Given the description of an element on the screen output the (x, y) to click on. 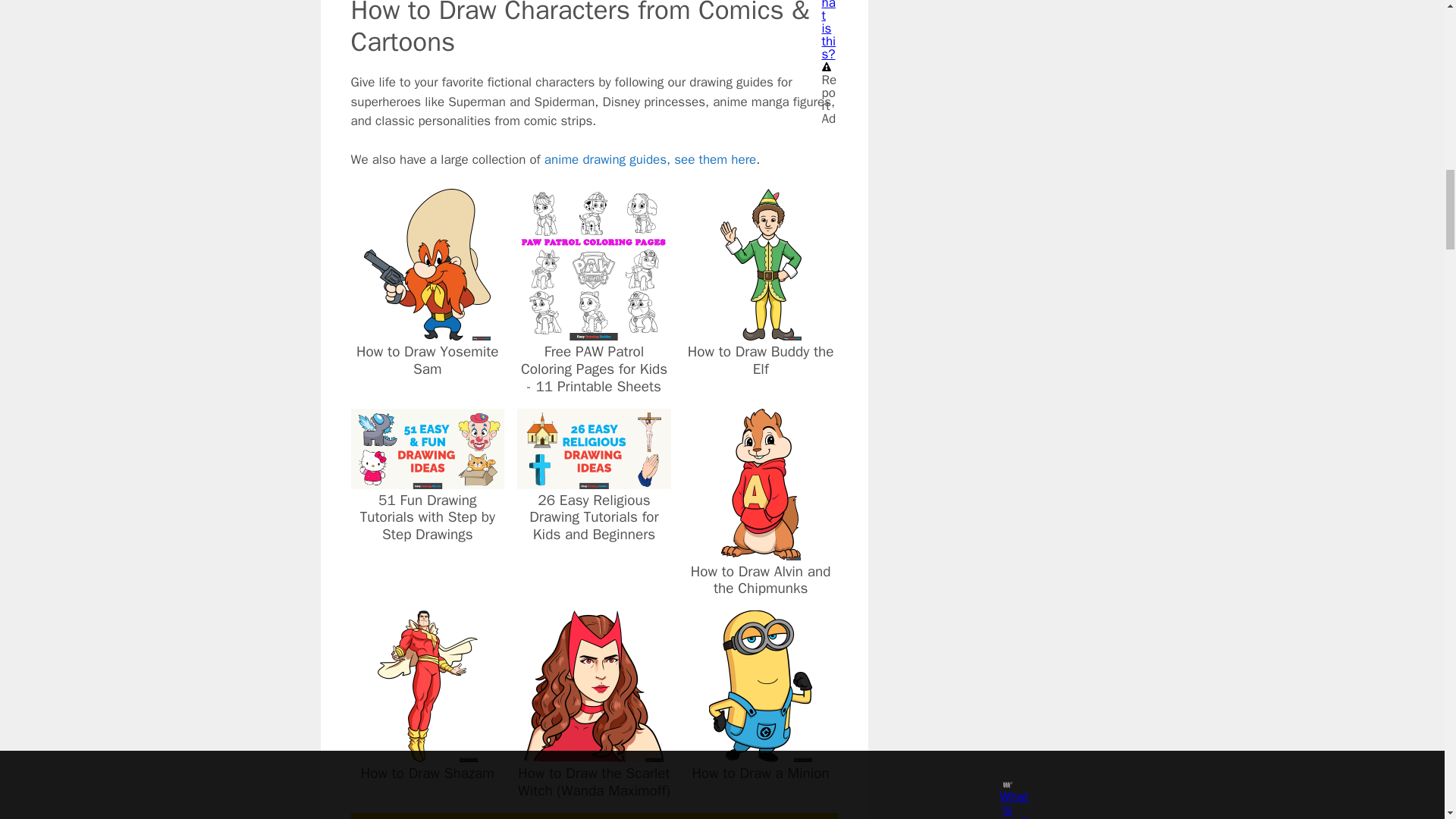
26 Easy Religious Drawing Tutorials for Kids and Beginners (593, 478)
How to Draw Buddy the Elf (760, 360)
anime drawing guides, see them here (648, 159)
How to Draw Buddy the Elf (761, 330)
How to Draw Yosemite Sam (426, 360)
How to Draw Alvin and the Chipmunks (760, 549)
How to Draw Yosemite Sam (427, 330)
51 Fun Drawing Tutorials with Step by Step Drawings (426, 478)
